Given the description of an element on the screen output the (x, y) to click on. 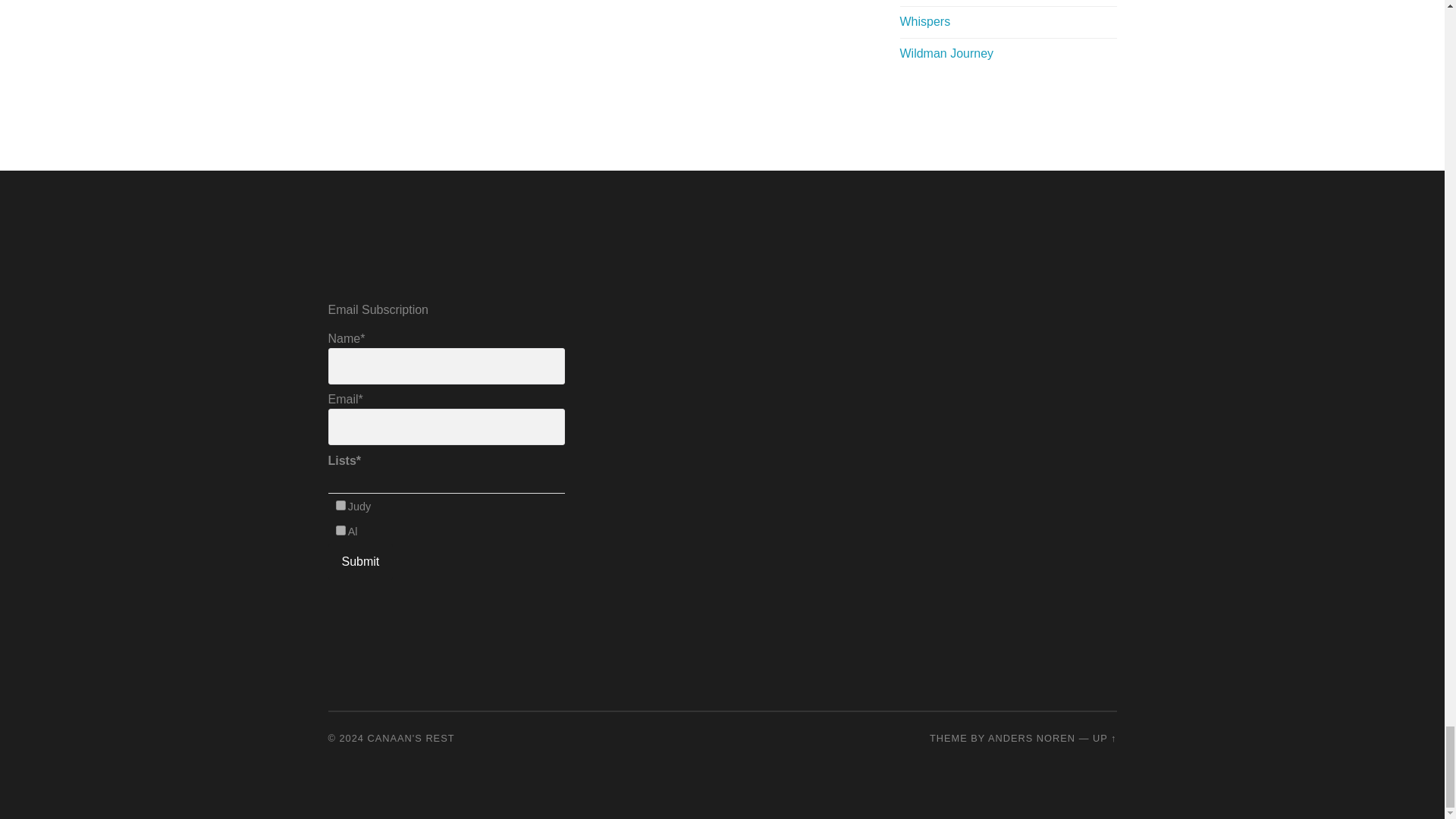
90f40595a265 (341, 505)
To the top (1104, 737)
Submit (360, 561)
3c59cd8b42fd (341, 530)
